Given the description of an element on the screen output the (x, y) to click on. 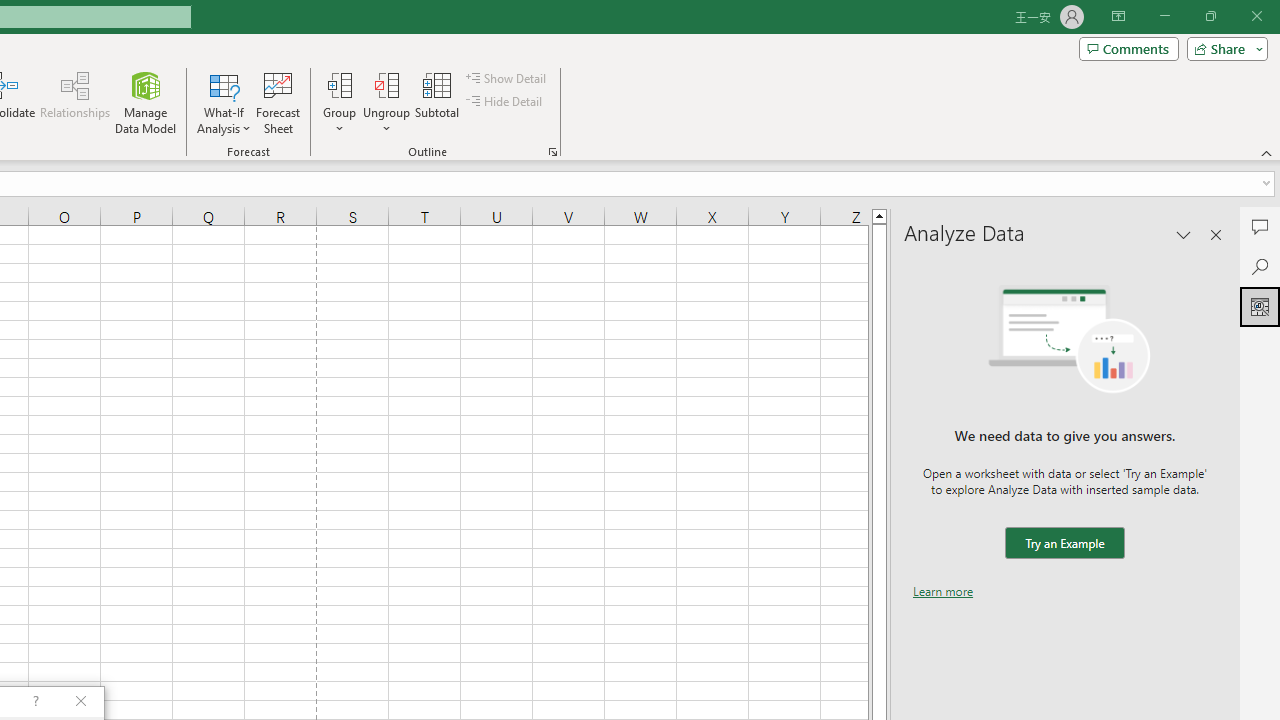
Task Pane Options (1183, 234)
Forecast Sheet (278, 102)
Hide Detail (505, 101)
Manage Data Model (145, 102)
Learn more (943, 591)
Group and Outline Settings (552, 151)
Subtotal (437, 102)
Search (1260, 266)
